Given the description of an element on the screen output the (x, y) to click on. 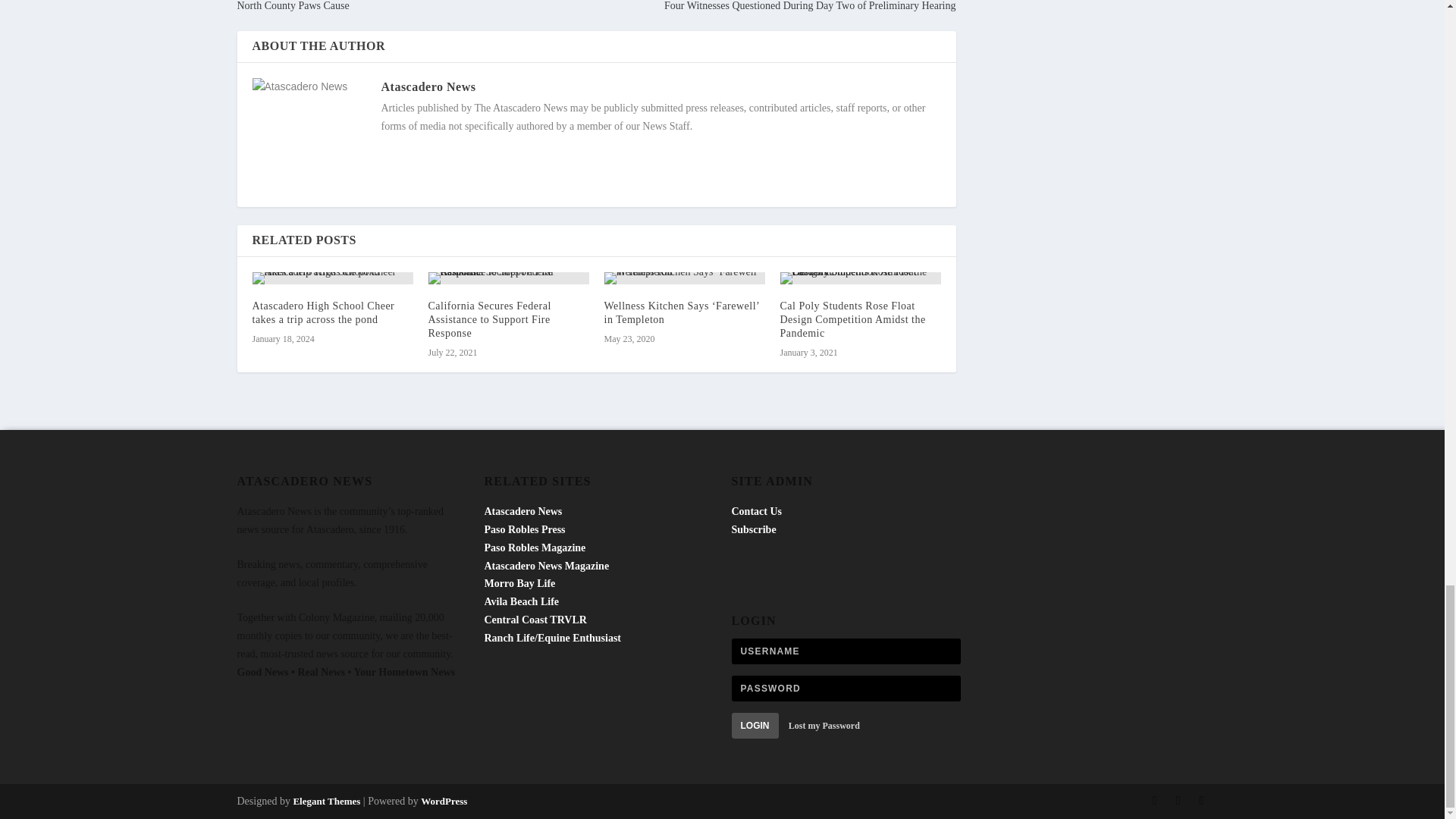
Atascadero High School Cheer takes a trip across the pond (331, 277)
View all posts by Atascadero News (428, 86)
Atascadero News (428, 86)
Atascadero High School Cheer takes a trip across the pond (322, 312)
